Given the description of an element on the screen output the (x, y) to click on. 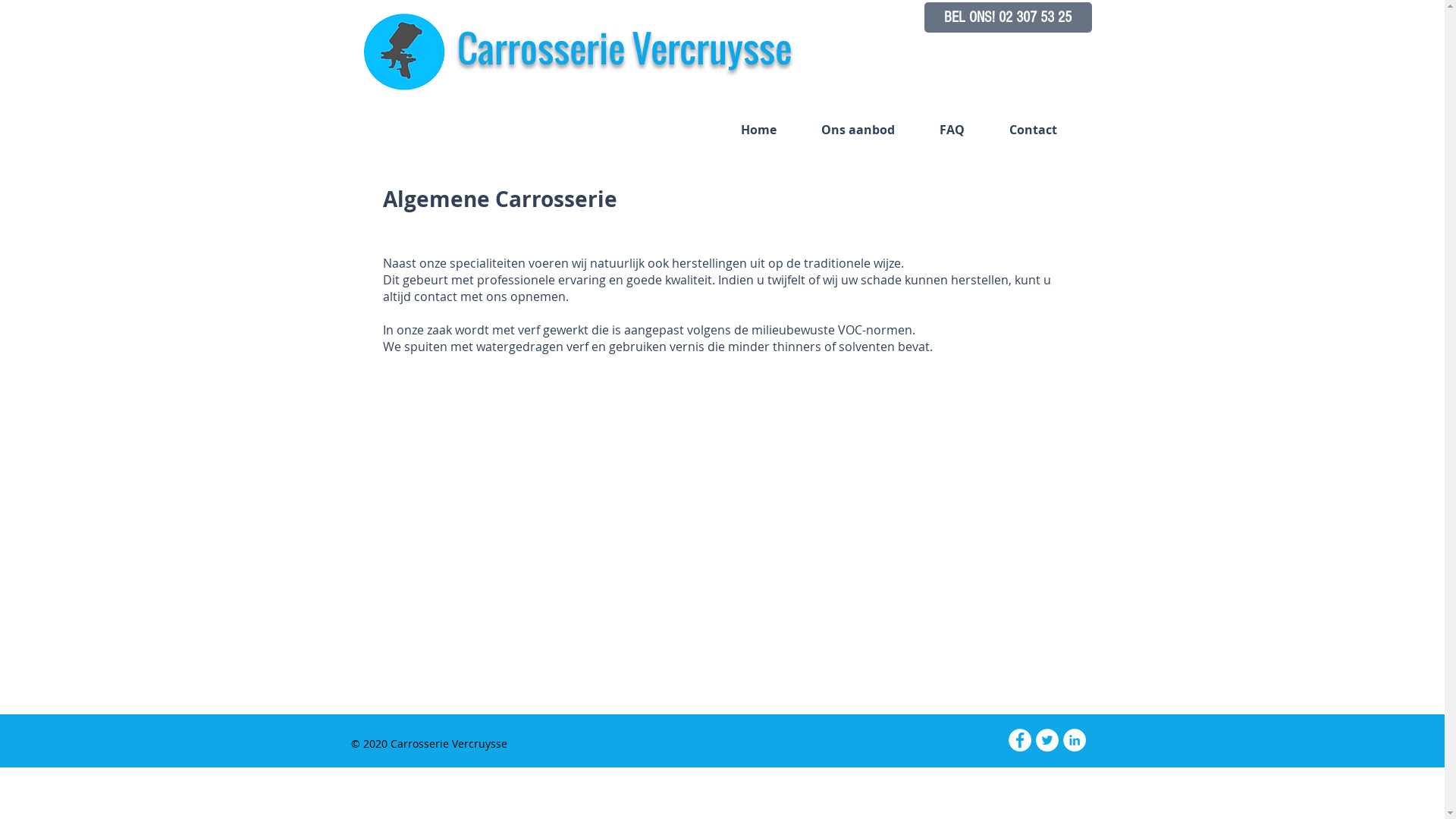
FAQ Element type: text (962, 129)
Home Element type: text (769, 129)
Contact Element type: text (1043, 129)
BEL ONS! 02 307 53 25 Element type: text (1007, 17)
